Given the description of an element on the screen output the (x, y) to click on. 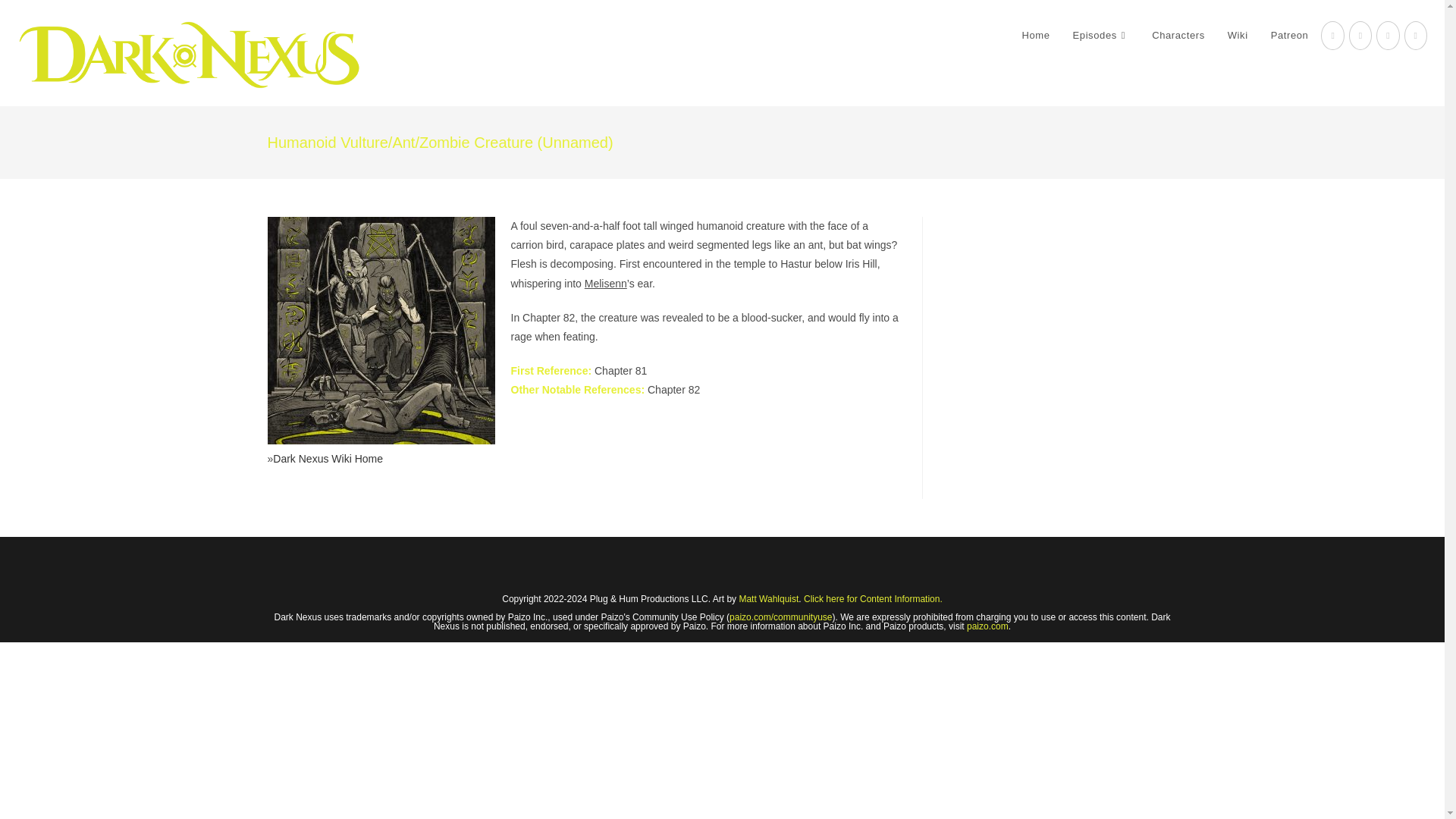
Matt Wahlquist (767, 598)
Patreon (1289, 35)
Characters (1177, 35)
Click here for Content Information. (872, 598)
Melisenn (606, 283)
Home (1035, 35)
Dark Nexus Wiki Home (327, 458)
Episodes (1101, 35)
paizo.com (987, 625)
